Given the description of an element on the screen output the (x, y) to click on. 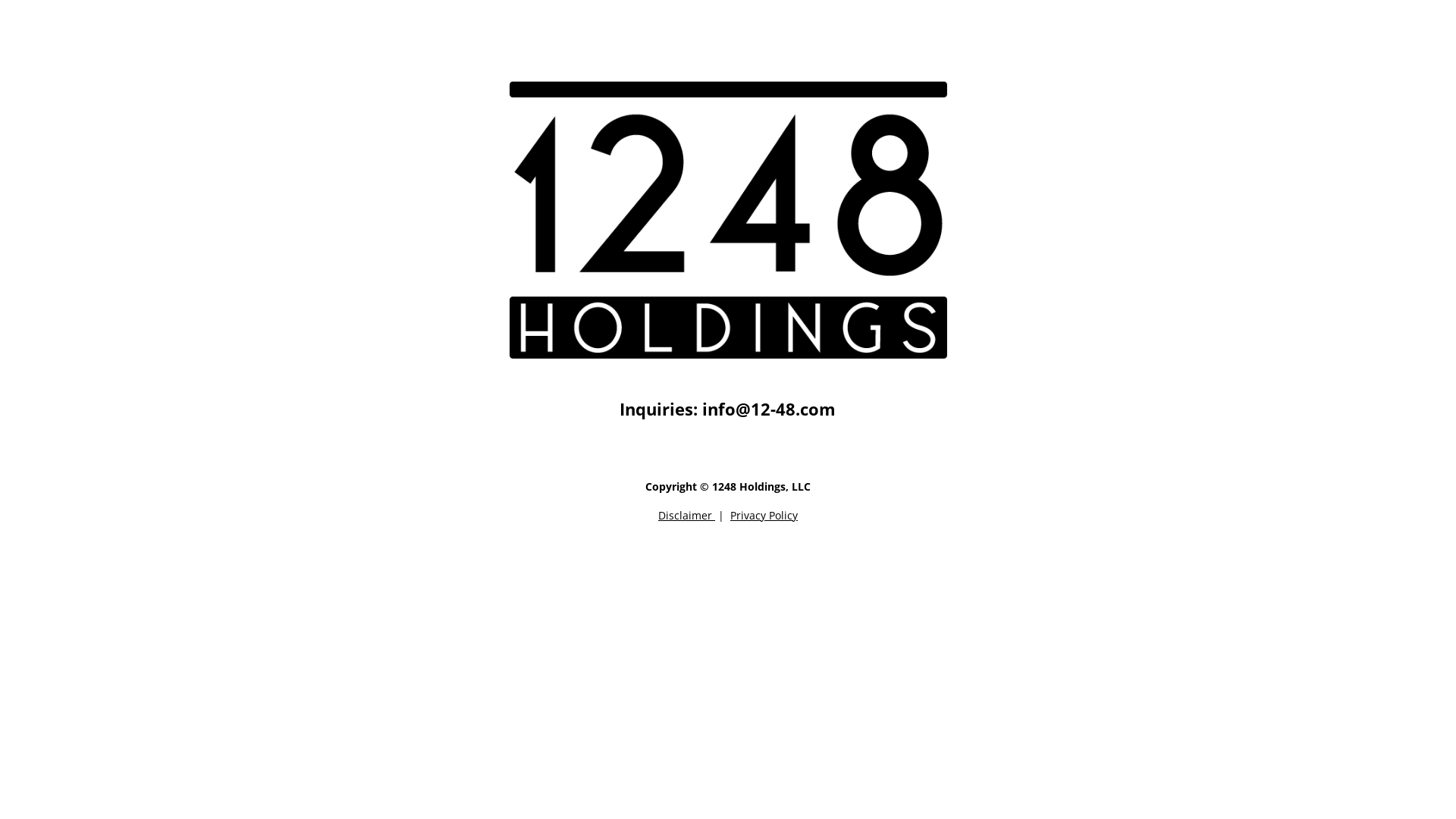
info@12-48.com Element type: text (768, 408)
Privacy Policy Element type: text (763, 515)
Disclaimer  Element type: text (686, 515)
